Given the description of an element on the screen output the (x, y) to click on. 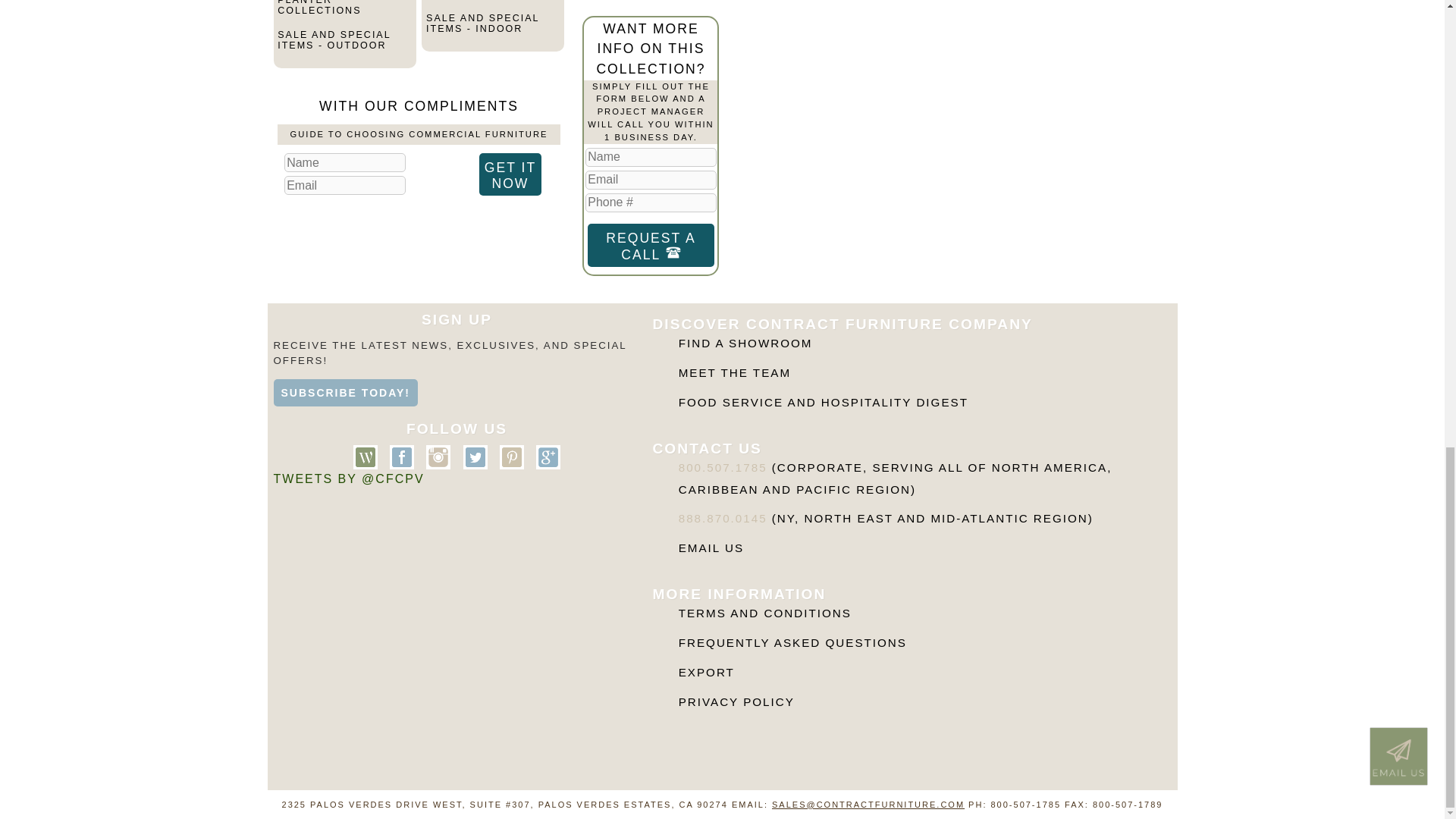
SALE AND SPECIAL ITEMS - OUTDOOR (345, 46)
DECORATIVE PLANTER COLLECTIONS (345, 14)
